Given the description of an element on the screen output the (x, y) to click on. 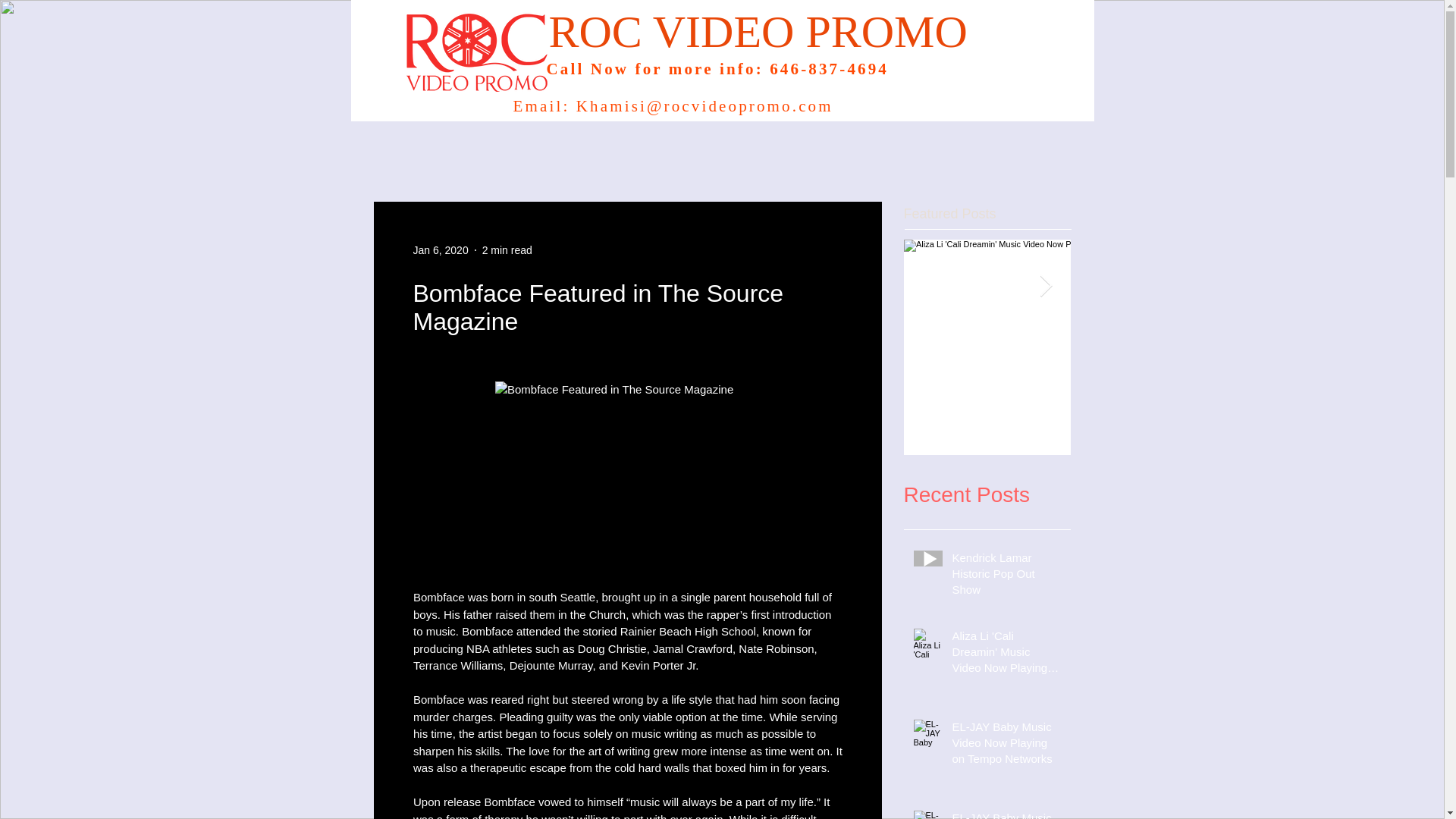
Jan 6, 2020 (439, 250)
2 min read (506, 250)
Kendrick Lamar Historic Pop Out Show (1006, 576)
EL-JAY Baby Music Video Now Playing on Tempo Networks (1153, 381)
EL-JAY Baby Music Video Now Playing on Tempo Networks (1006, 746)
